Given the description of an element on the screen output the (x, y) to click on. 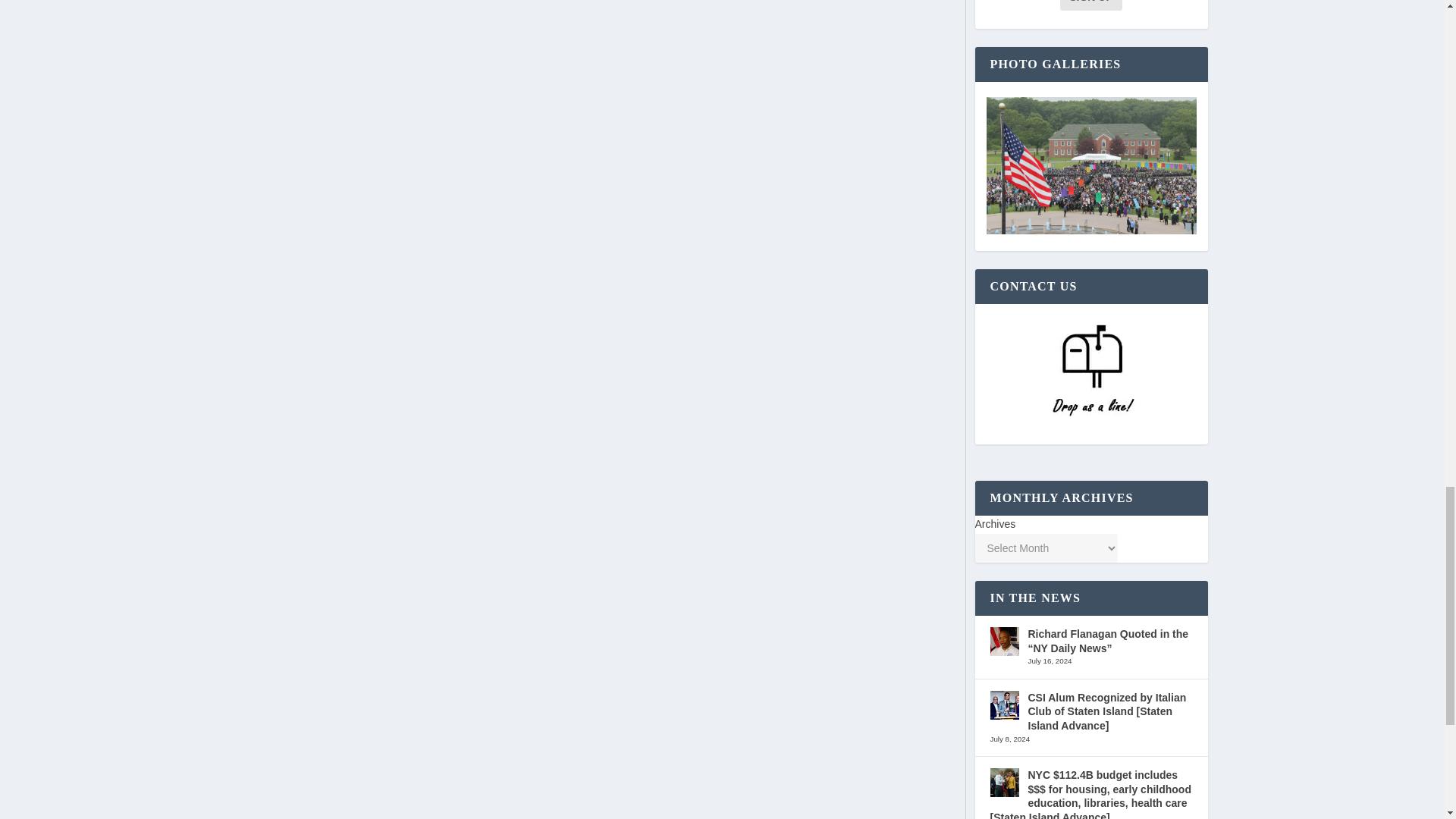
Sign up (1090, 5)
